Given the description of an element on the screen output the (x, y) to click on. 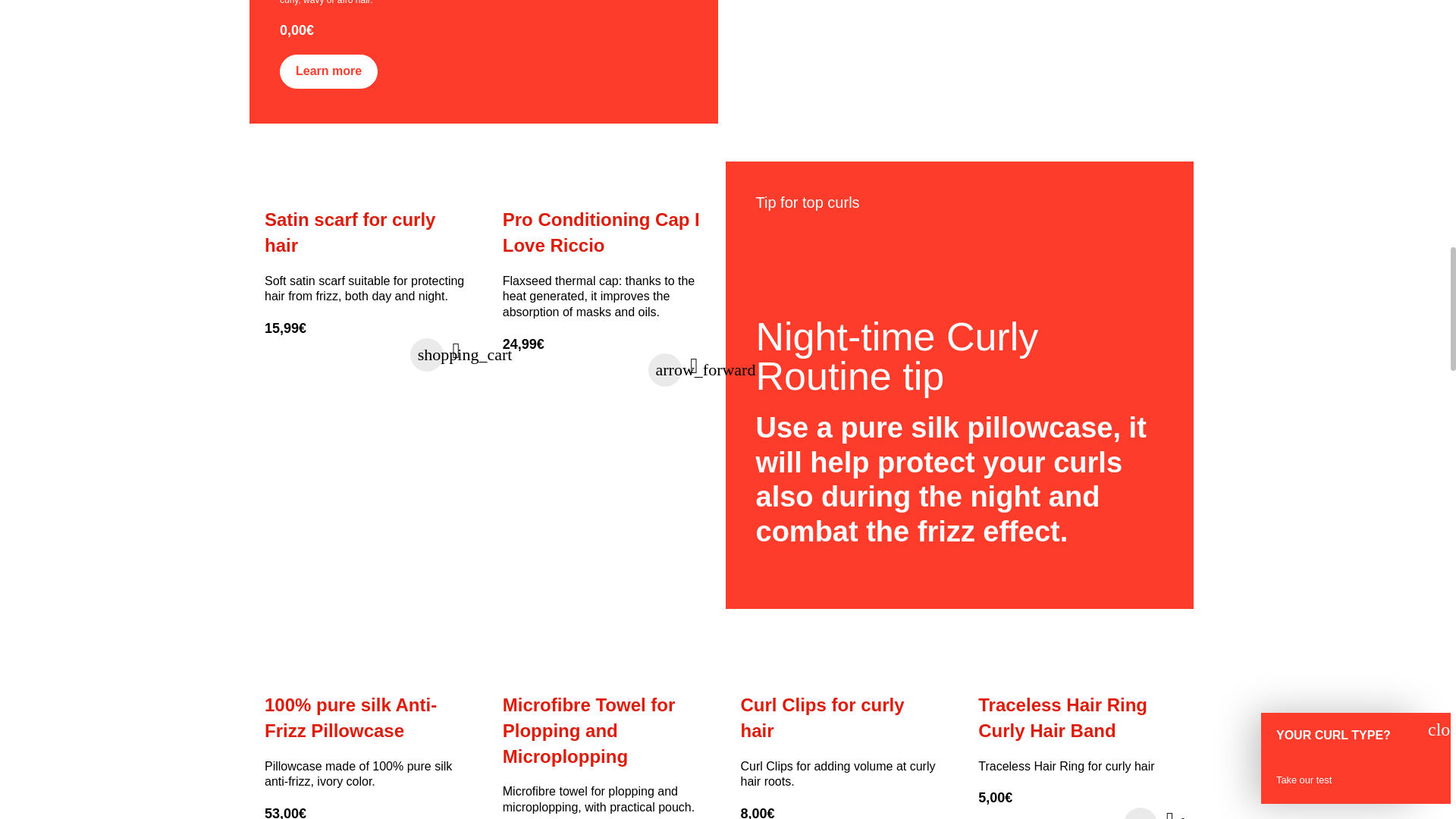
Satin scarf for curly hair (364, 184)
0 (314, 353)
Pro Conditioning Cap I Love Riccio (602, 184)
